Given the description of an element on the screen output the (x, y) to click on. 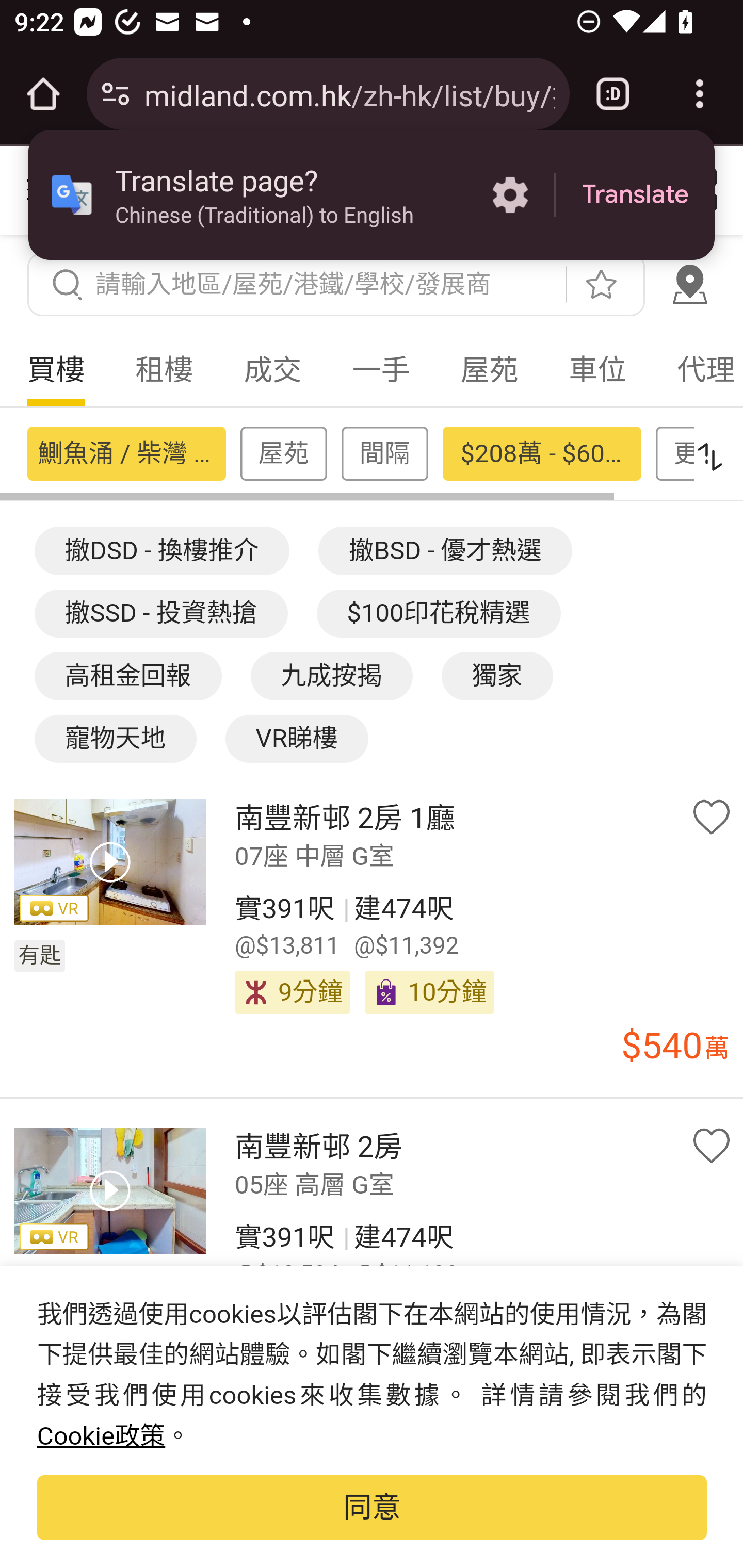
Open the home page (43, 93)
Connection is secure (115, 93)
Switch or close tabs (612, 93)
Customize and control Google Chrome (699, 93)
Translate (634, 195)
More options in the Translate page? (509, 195)
地圖搜尋 (689, 283)
買樓 (56, 369)
租樓 (164, 369)
成交 (272, 369)
一手 (380, 369)
屋苑 (489, 369)
車位 (597, 369)
代理 (696, 369)
撤DSD - 換樓推介 (161, 550)
撤BSD - 優才熱選 (446, 550)
撤SSD - 投資熱搶 (160, 613)
$100印花稅精選 (438, 613)
高租金回報 (127, 675)
九成按揭 (330, 675)
獨家 (497, 675)
寵物天地 (114, 738)
VR睇樓 (296, 738)
Cookie政策 (101, 1436)
同意 (372, 1507)
